Given the description of an element on the screen output the (x, y) to click on. 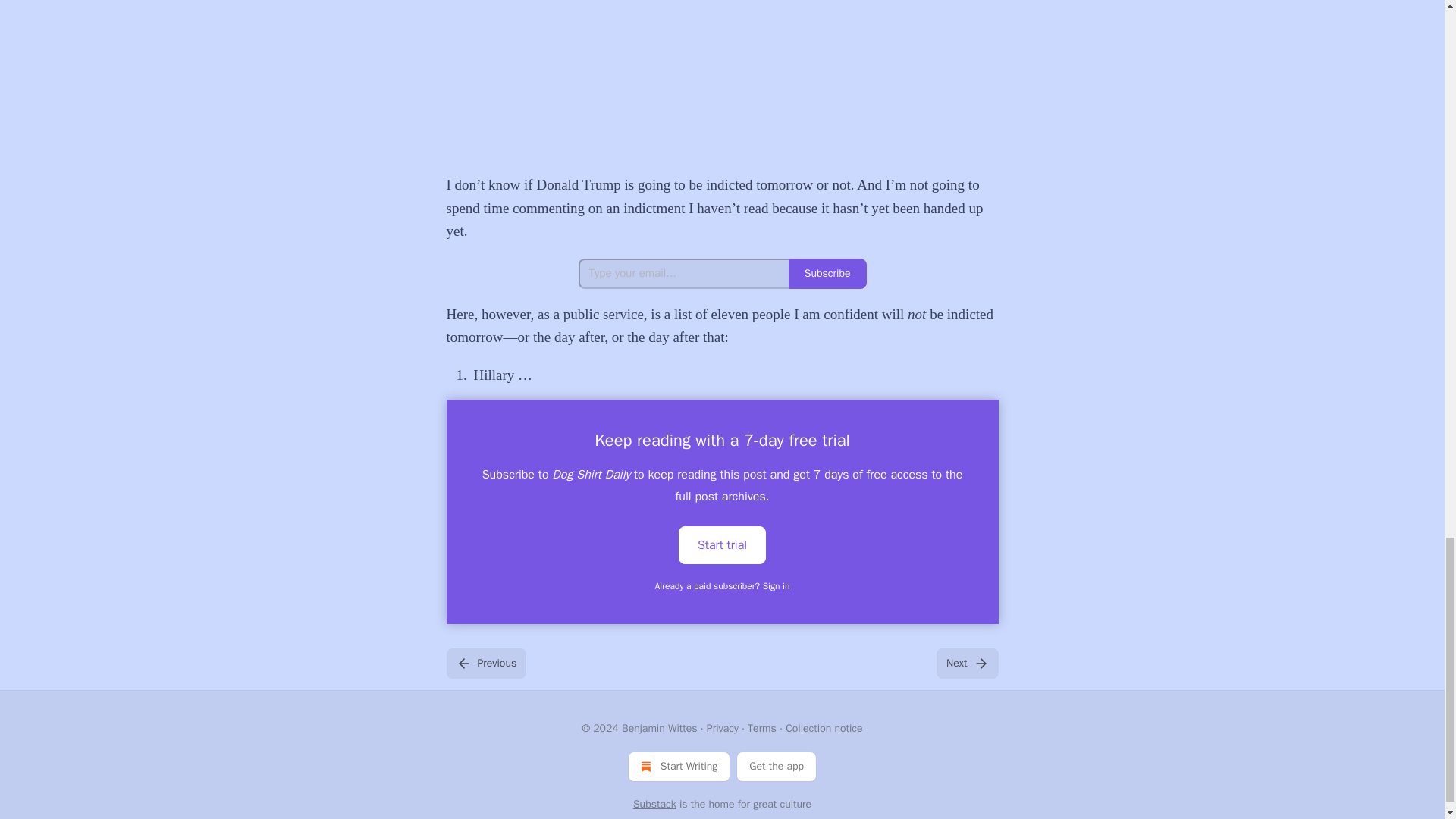
Substack (655, 803)
Subscribe (827, 273)
Privacy (722, 727)
Get the app (776, 766)
Start Writing (678, 766)
Terms (762, 727)
Start trial (721, 545)
Collection notice (823, 727)
Already a paid subscriber? Sign in (722, 585)
Next (966, 663)
Previous (485, 663)
Start trial (721, 544)
